Given the description of an element on the screen output the (x, y) to click on. 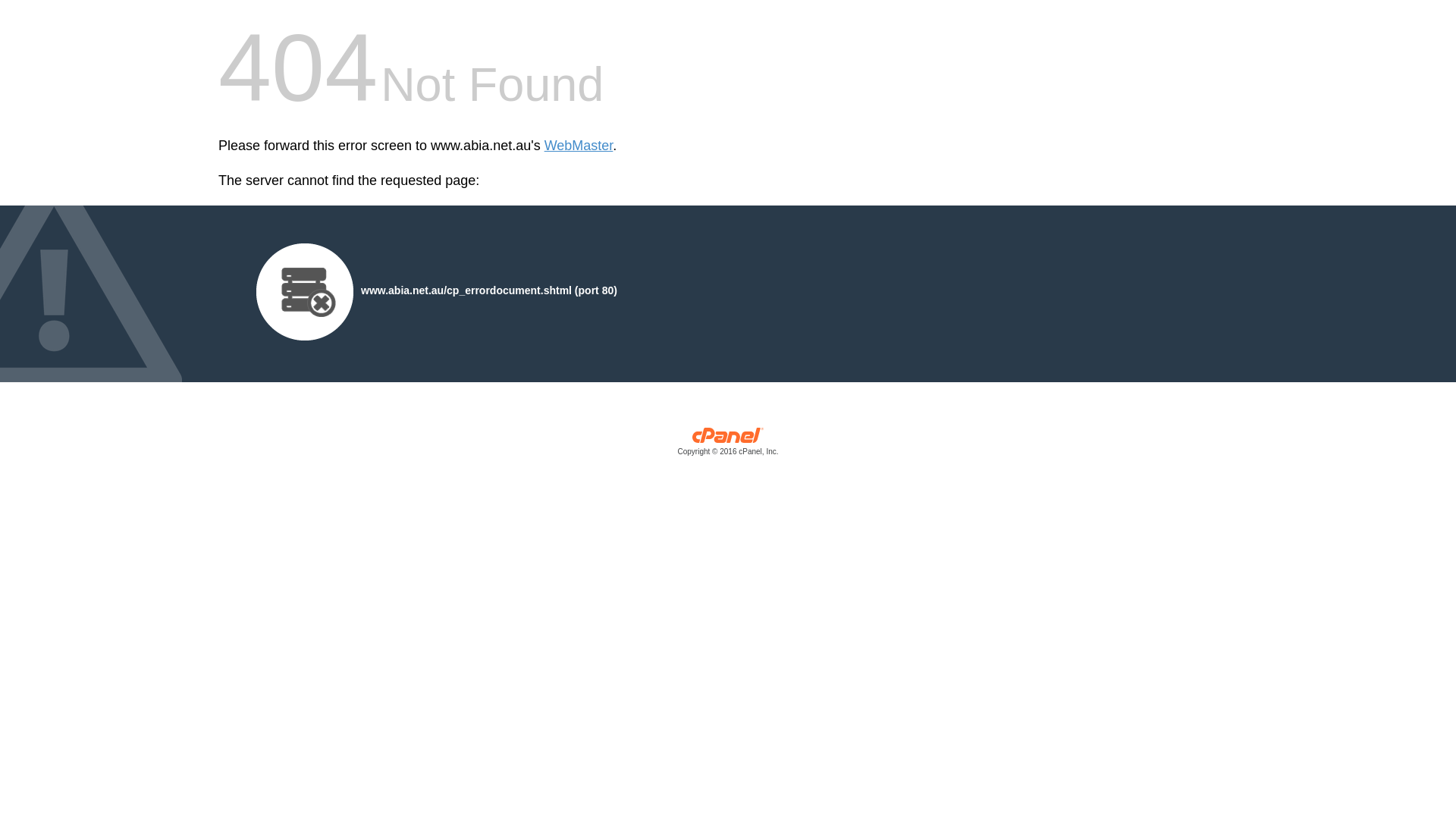
WebMaster Element type: text (578, 145)
